Given the description of an element on the screen output the (x, y) to click on. 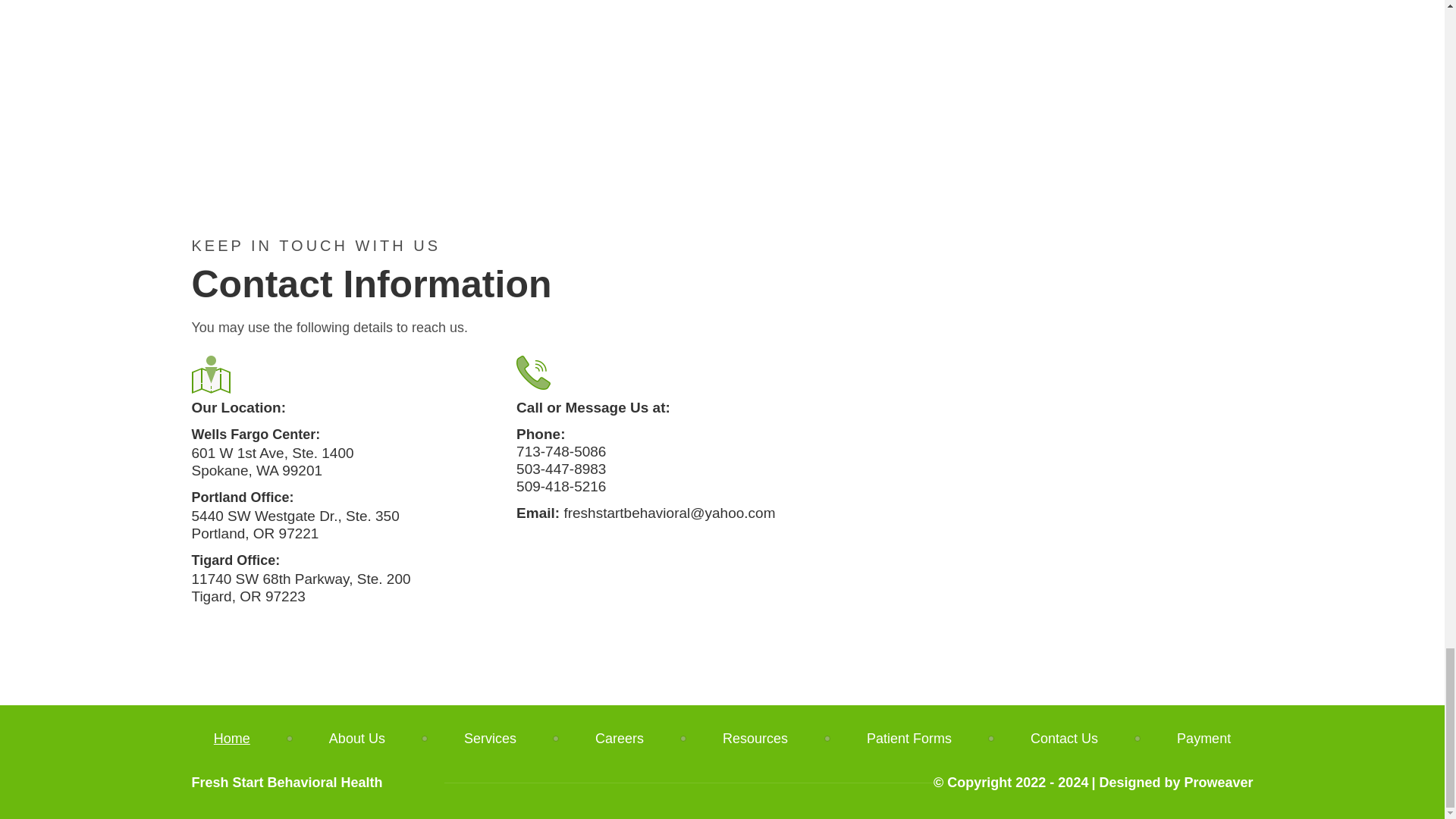
Careers (619, 738)
Proweaver (1217, 782)
Resources (754, 738)
Payment (1183, 738)
About Us (357, 738)
Services (490, 738)
Home (251, 738)
Contact Us (1064, 738)
Patient Forms (909, 738)
